Given the description of an element on the screen output the (x, y) to click on. 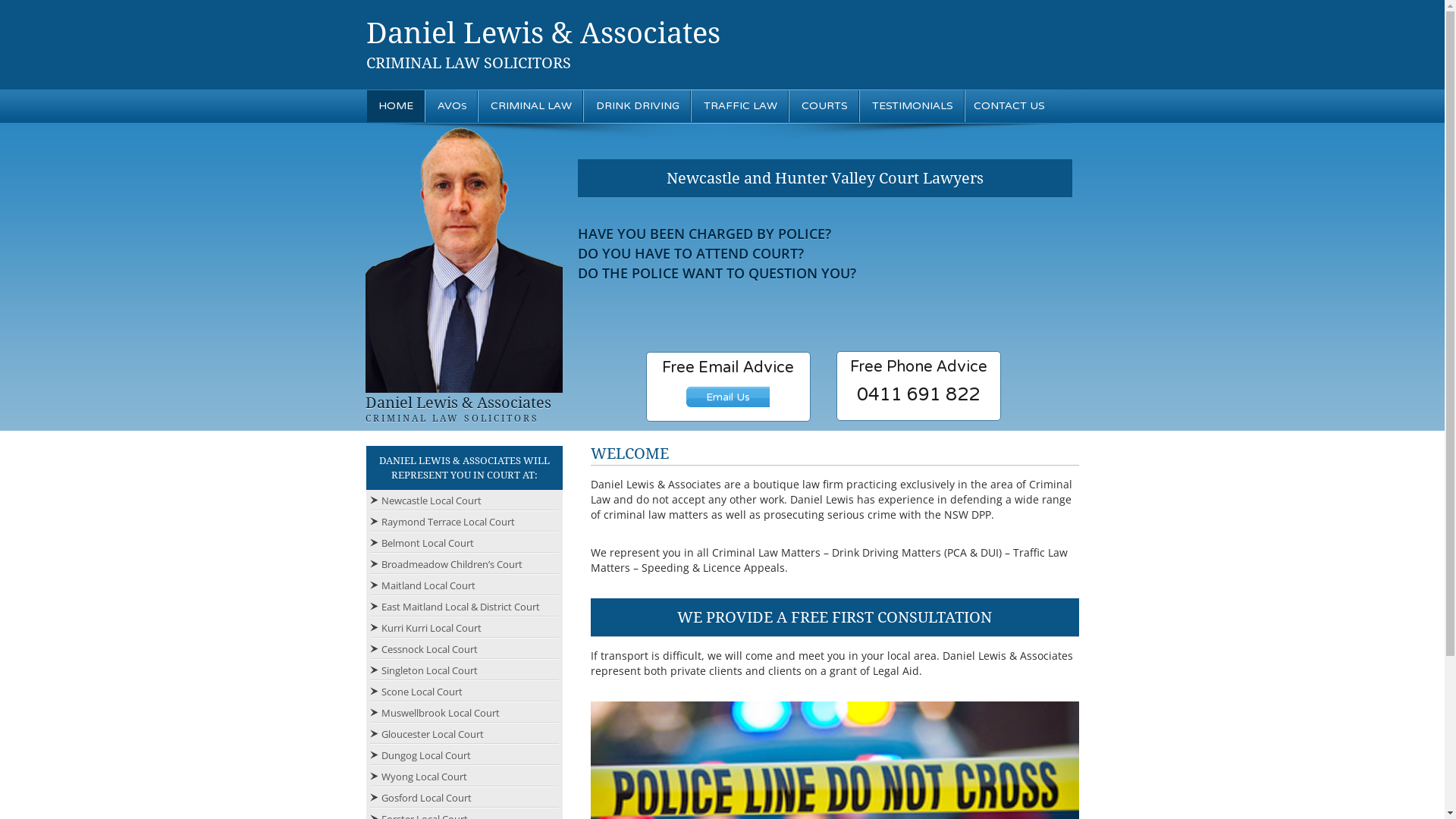
Gosford Local Court Element type: text (420, 796)
Belmont Local Court Element type: text (421, 542)
Muswellbrook Local Court Element type: text (434, 711)
TRAFFIC LAW Element type: text (739, 106)
Maitland Local Court Element type: text (422, 584)
Raymond Terrace Local Court Element type: text (442, 520)
TESTIMONIALS Element type: text (911, 106)
Scone Local Court Element type: text (416, 690)
AVOS Element type: text (451, 106)
Dungog Local Court Element type: text (420, 754)
COURTS Element type: text (824, 106)
CRIMINAL LAW Element type: text (531, 106)
Wyong Local Court Element type: text (418, 775)
0411 691 822 Element type: text (917, 394)
East Maitland Local & District Court Element type: text (454, 605)
Daniel Lewis & Associates Element type: text (542, 33)
Cessnock Local Court Element type: text (423, 648)
Singleton Local Court Element type: text (423, 669)
HOME Element type: text (395, 106)
CONTACT US Element type: text (1009, 106)
Email Us Element type: text (727, 396)
Gloucester Local Court Element type: text (426, 733)
Kurri Kurri Local Court Element type: text (425, 626)
Newcastle Local Court Element type: text (425, 499)
DRINK DRIVING Element type: text (636, 106)
